Given the description of an element on the screen output the (x, y) to click on. 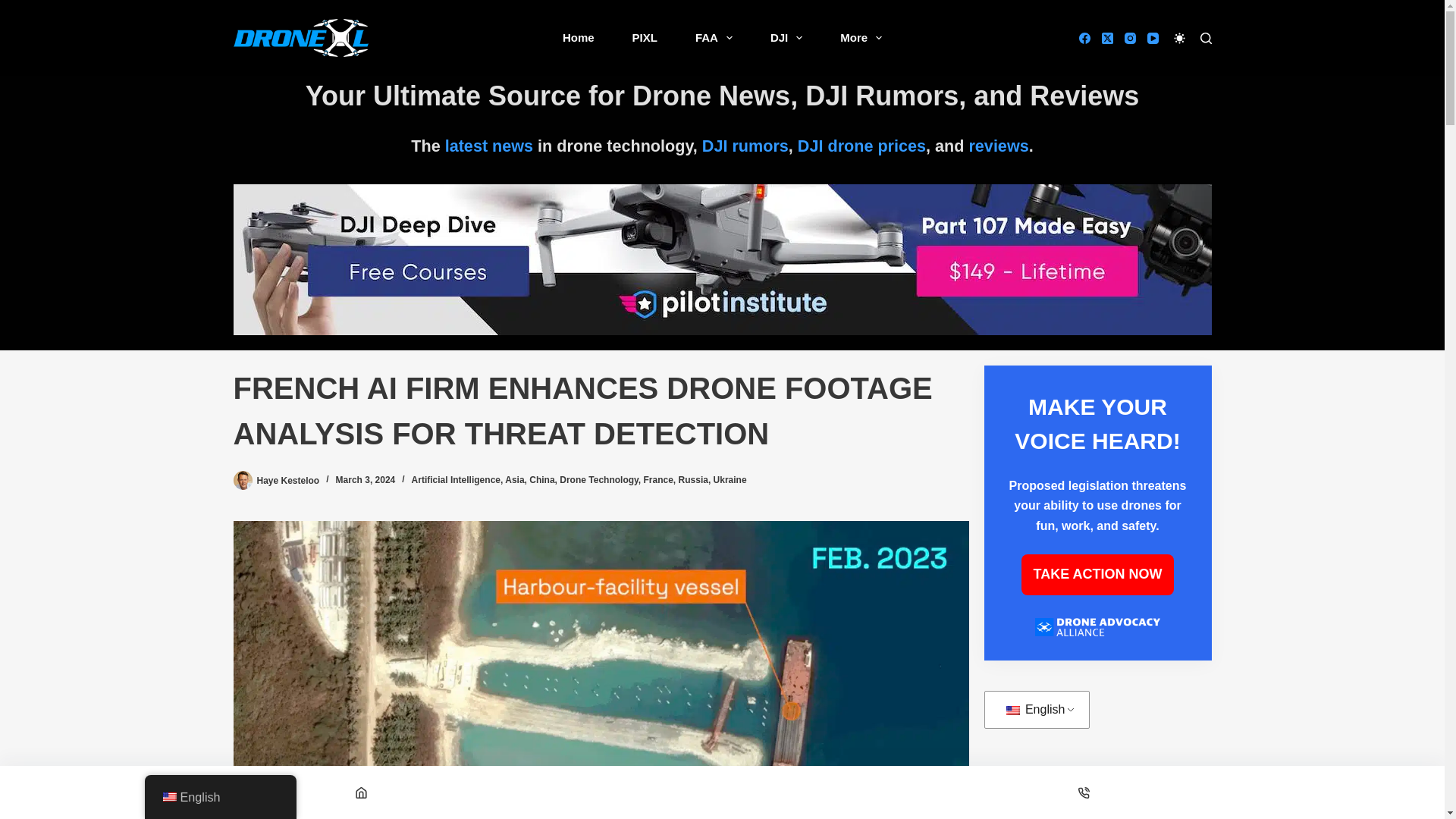
DJI rumors (745, 145)
DJI drone prices (861, 145)
DJI (786, 37)
FAA (714, 37)
More (861, 37)
latest news (488, 145)
Home (577, 37)
Skip to content (15, 7)
